Given the description of an element on the screen output the (x, y) to click on. 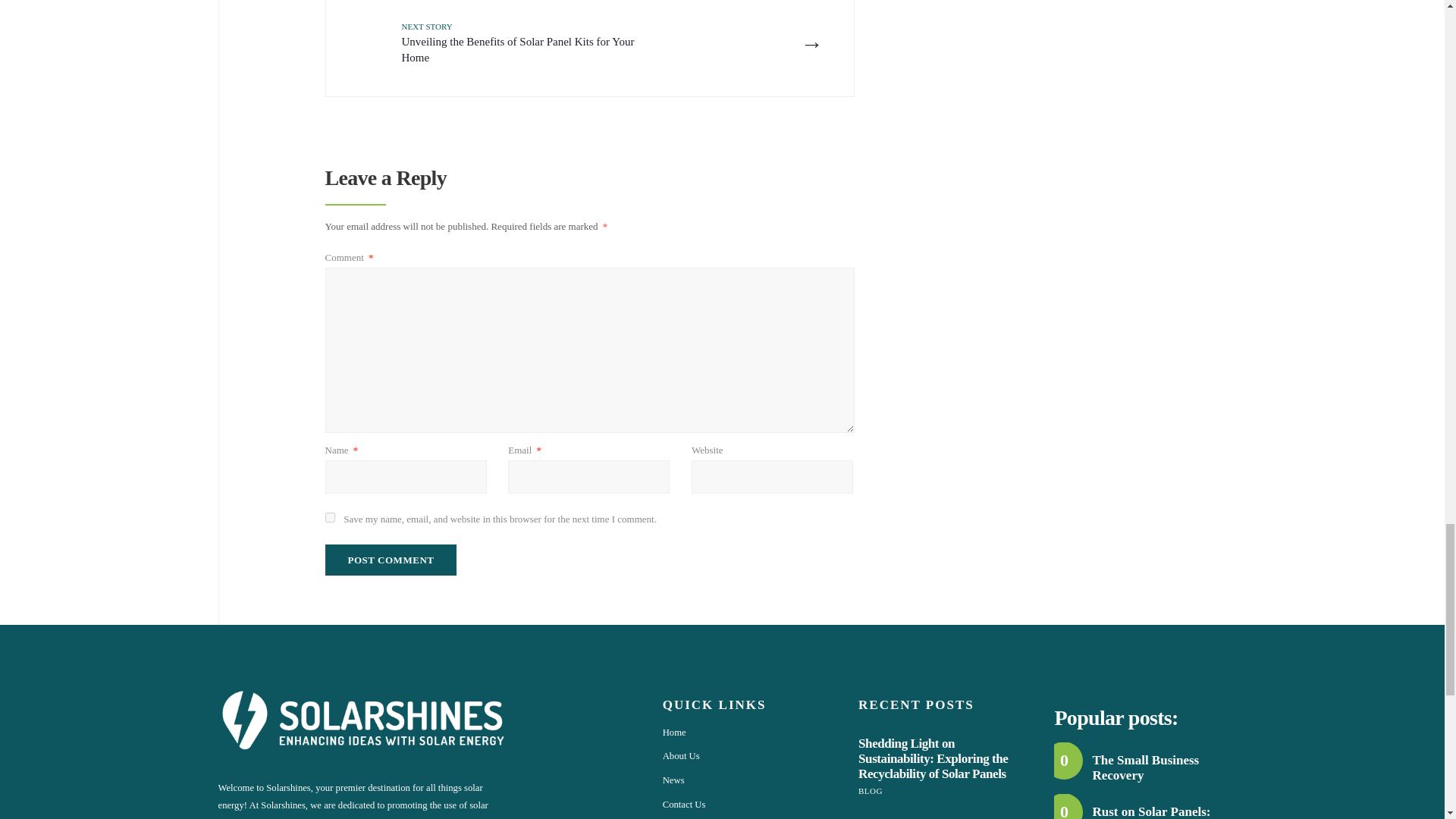
Post Comment (390, 560)
yes (329, 517)
Post Comment (390, 560)
